Given the description of an element on the screen output the (x, y) to click on. 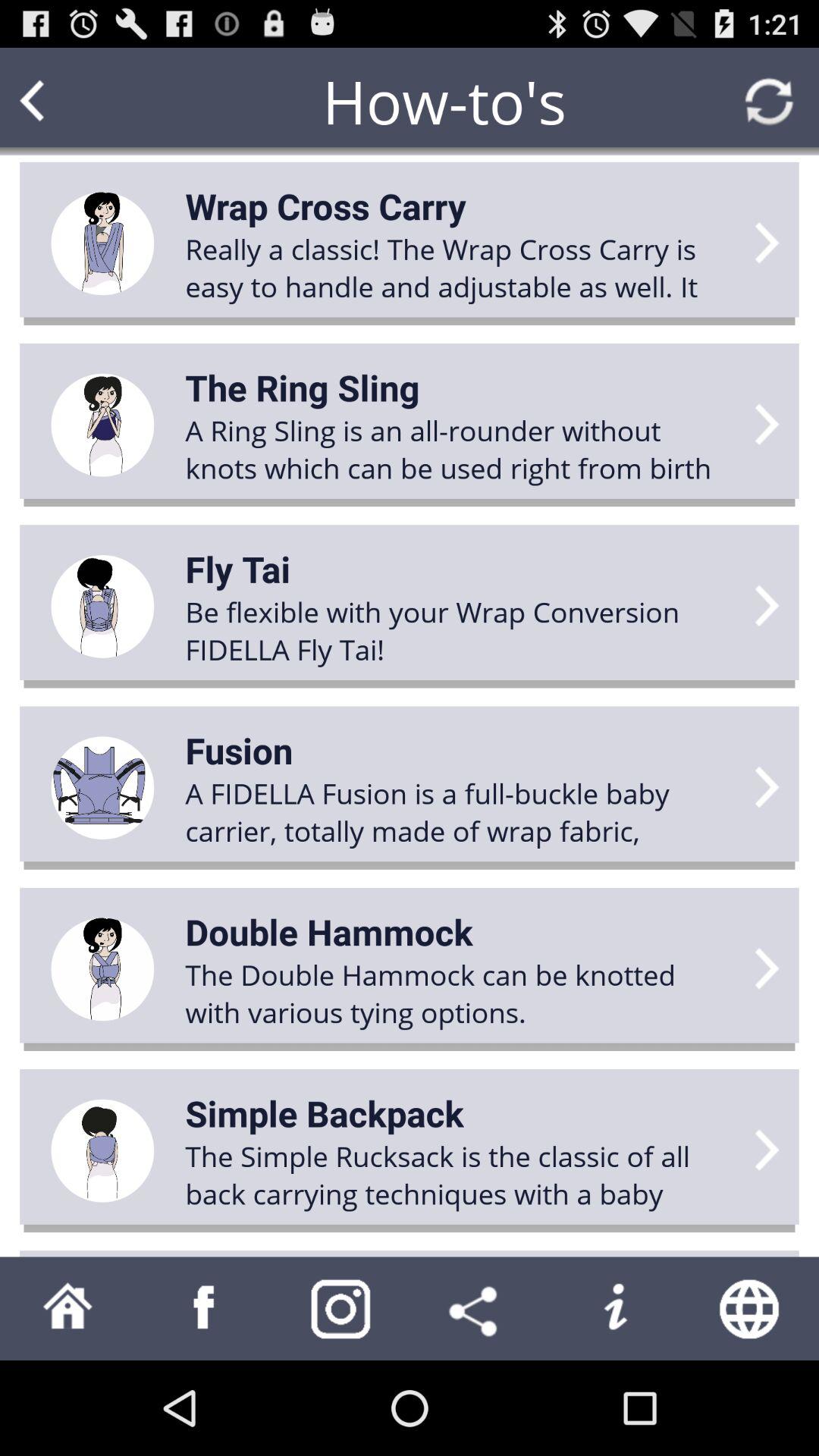
instagram (341, 1308)
